Given the description of an element on the screen output the (x, y) to click on. 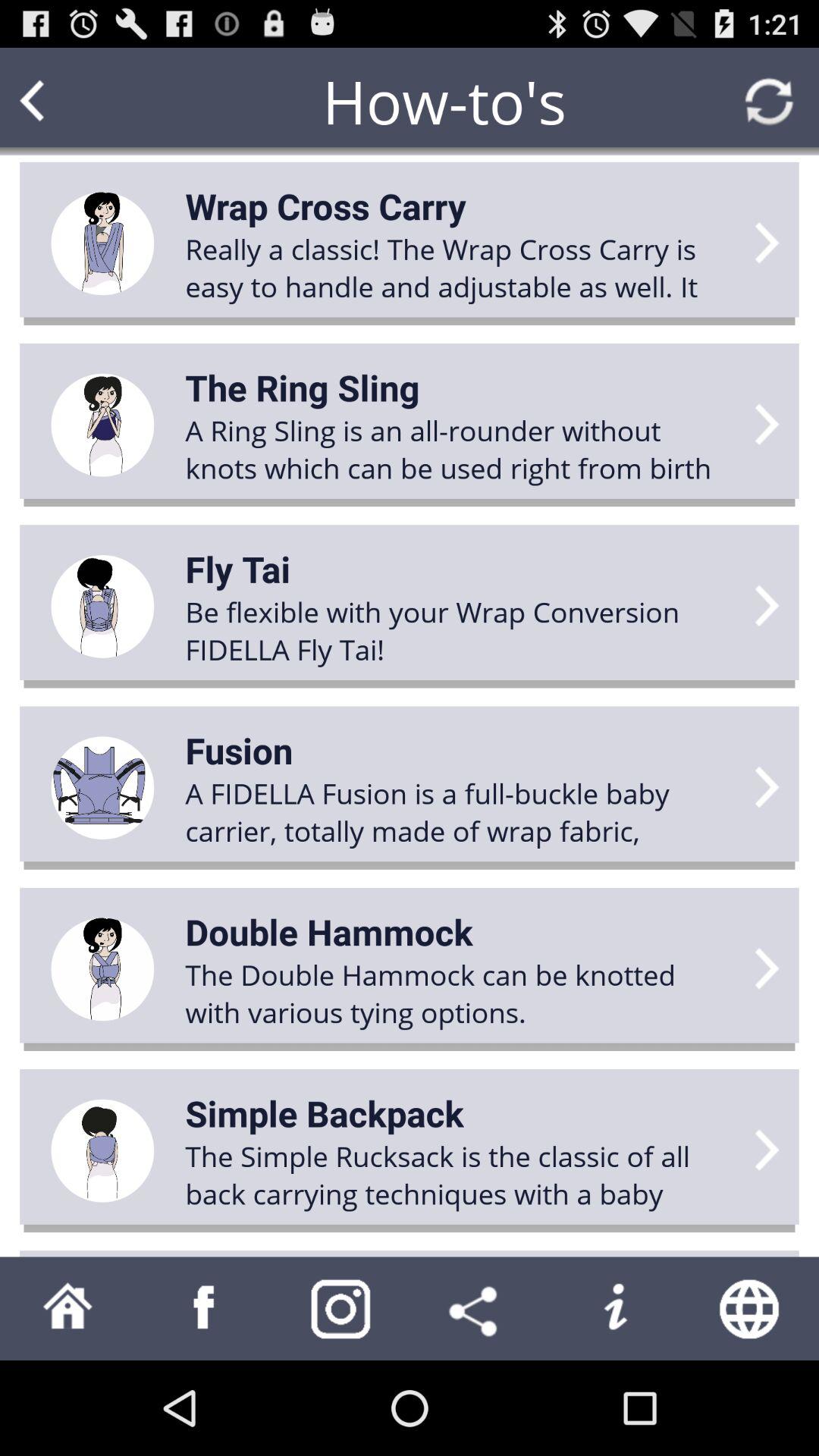
instagram (341, 1308)
